Given the description of an element on the screen output the (x, y) to click on. 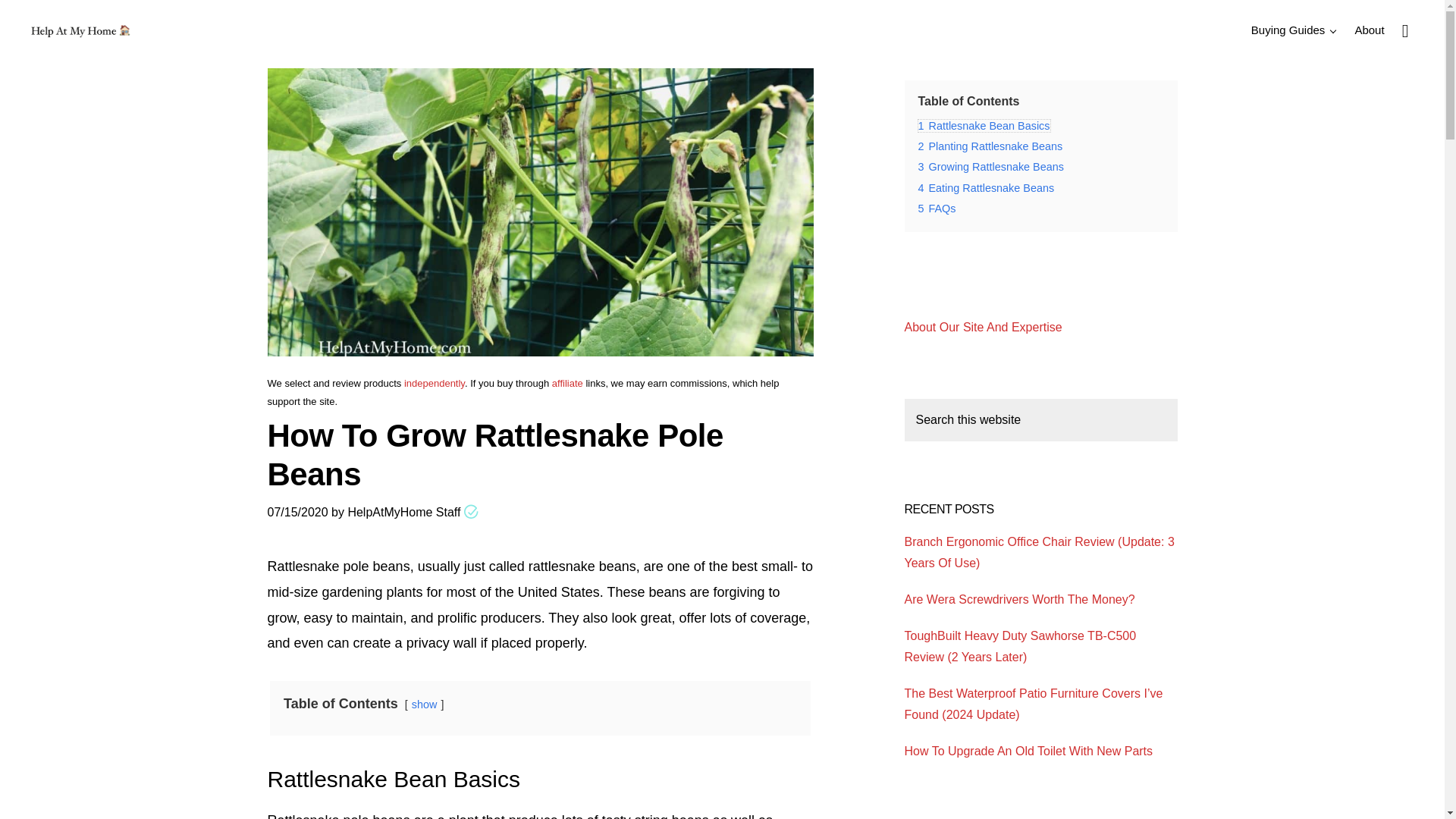
3 Growing Rattlesnake Beans (989, 166)
4 Eating Rattlesnake Beans (985, 187)
show (425, 704)
2 Planting Rattlesnake Beans (989, 146)
About Our Site And Expertise (982, 327)
About (1368, 29)
affiliate (567, 383)
Are Wera Screwdrivers Worth The Money? (1019, 599)
